Given the description of an element on the screen output the (x, y) to click on. 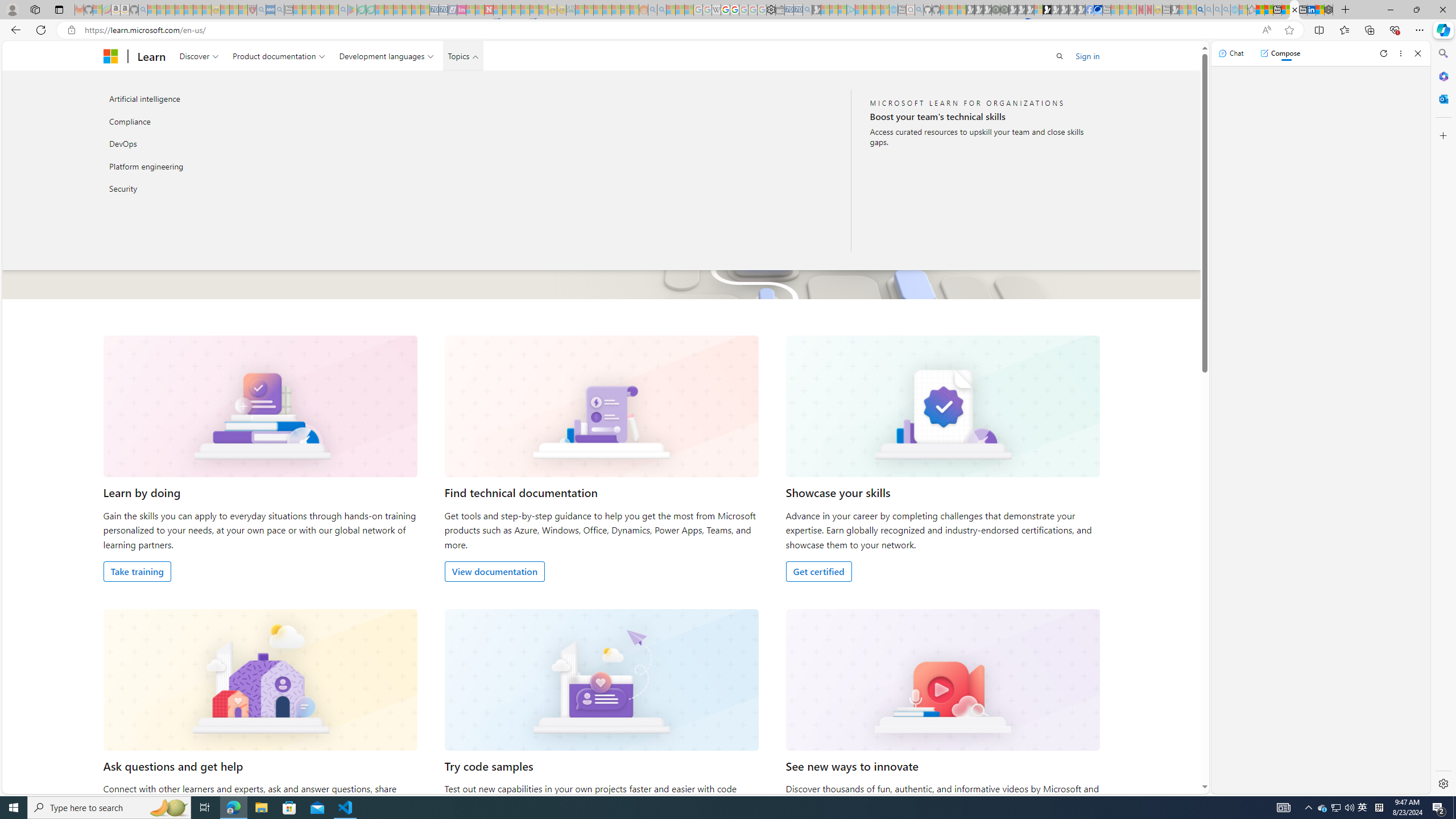
DevOps (224, 144)
Bing AI - Search (1200, 9)
Compliance (224, 121)
